Given the description of an element on the screen output the (x, y) to click on. 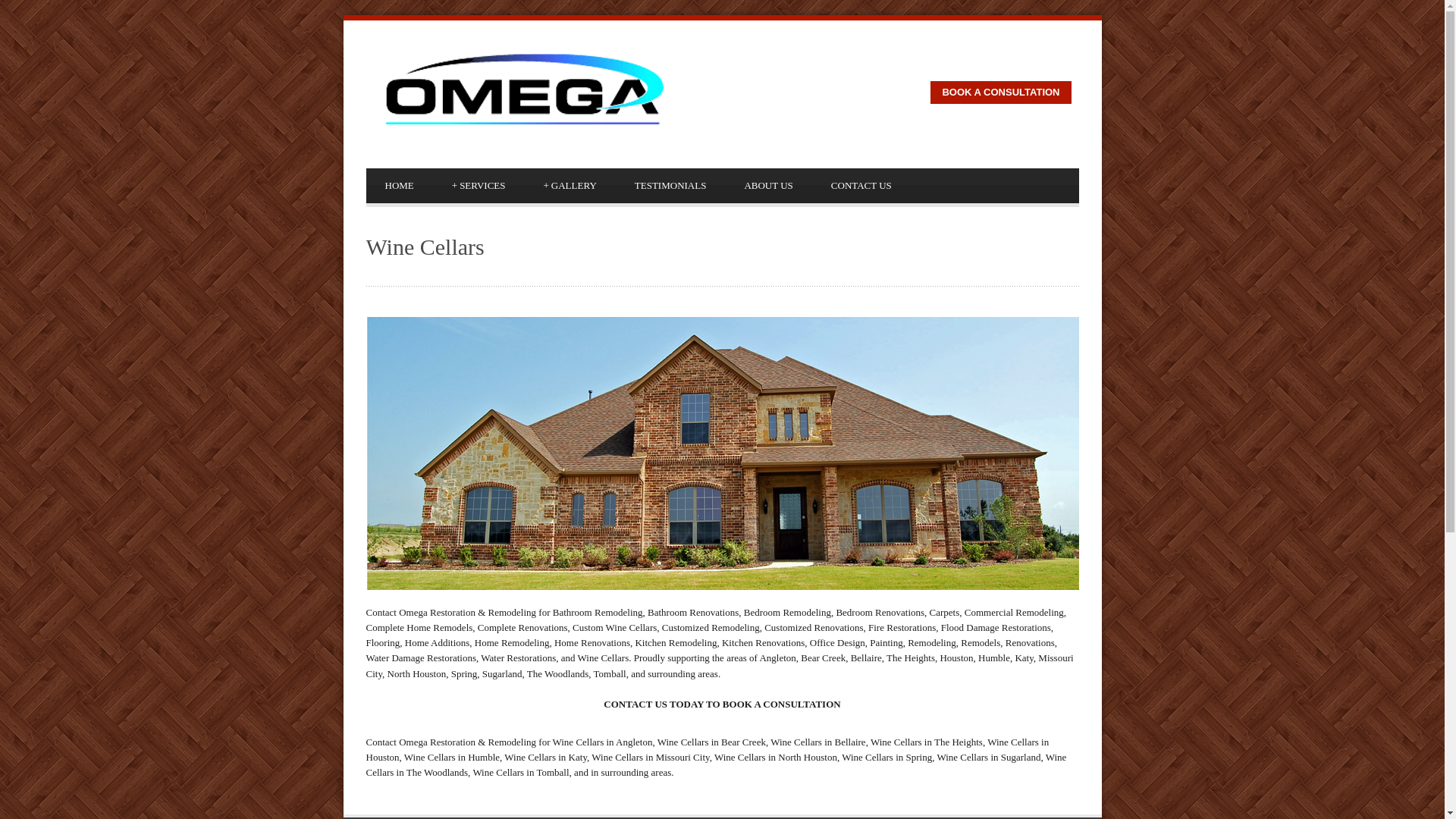
CONTACT US TODAY TO BOOK A CONSULTATION Element type: text (721, 703)
Wine Cellars in Katy Element type: text (545, 756)
Wine Cellars in The Woodlands Element type: text (715, 764)
Wine Cellars in Bear Creek Element type: text (711, 741)
Omega Restoration & Remodeling Element type: hover (721, 452)
BOOK A CONSULTATION Element type: text (1000, 92)
Wine Cellars in Tomball Element type: text (520, 772)
Wine Cellars in North Houston Element type: text (775, 756)
Wine Cellars in Sugarland Element type: text (988, 756)
Wine Cellars in Bellaire Element type: text (817, 741)
Wine Cellars in Angleton Element type: text (602, 741)
GALLERY
+ Element type: text (569, 185)
HOME Element type: text (398, 185)
Wine Cellars in Missouri City Element type: text (650, 756)
TESTIMONIALS Element type: text (670, 185)
SERVICES
+ Element type: text (478, 185)
Wine Cellars in Houston Element type: text (706, 749)
ABOUT US Element type: text (767, 185)
Wine Cellars in The Heights Element type: text (926, 741)
Wine Cellars in Spring Element type: text (886, 756)
CONTACT US Element type: text (861, 185)
Wine Cellars in Humble Element type: text (451, 756)
